Given the description of an element on the screen output the (x, y) to click on. 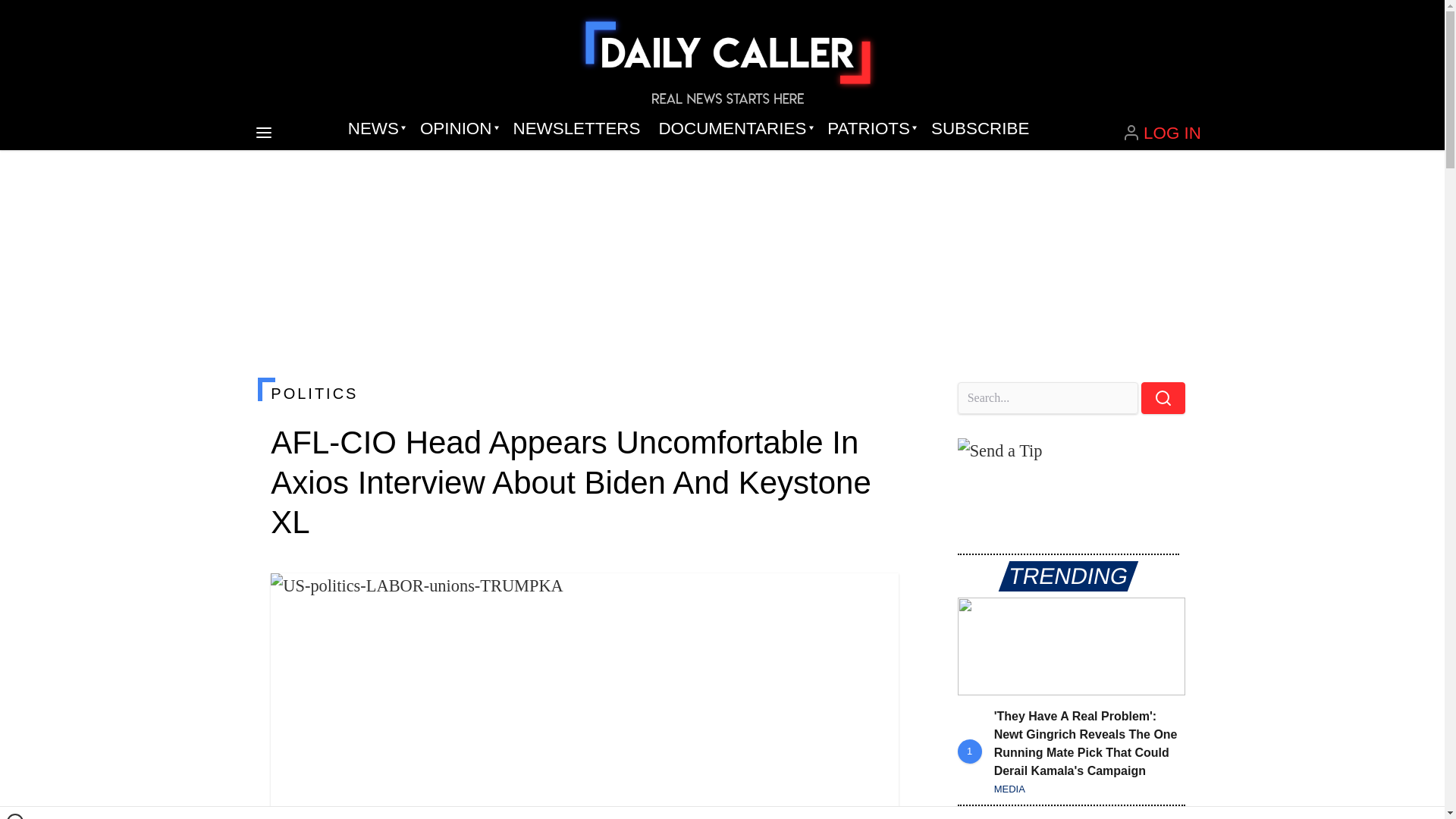
NEWSLETTERS (576, 128)
SUBSCRIBE (979, 128)
Toggle fullscreen (874, 596)
NEWS (374, 128)
Close window (14, 816)
PATRIOTS (869, 128)
OPINION (456, 128)
POLITICS (584, 393)
DOCUMENTARIES (733, 128)
